Given the description of an element on the screen output the (x, y) to click on. 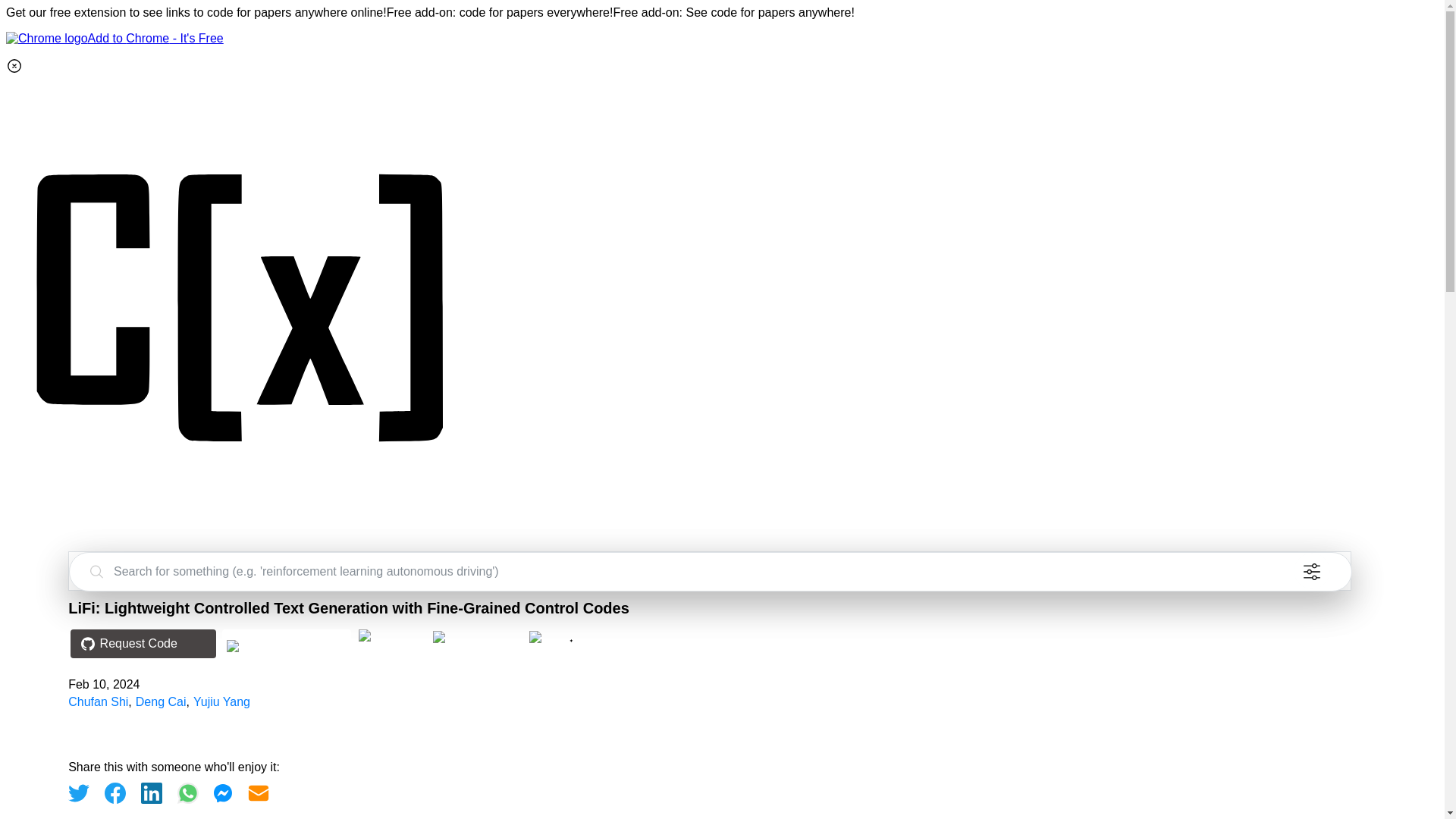
Request Code (142, 643)
View code for similar papers (286, 645)
Bookmark this paper (475, 635)
Contribute your code for this paper to the community (390, 635)
Deng Cai (160, 701)
Chufan Shi (98, 701)
Get alerts when new code is available for this paper (560, 636)
CatalyzeX Icon (241, 543)
Request Code (138, 645)
